Given the description of an element on the screen output the (x, y) to click on. 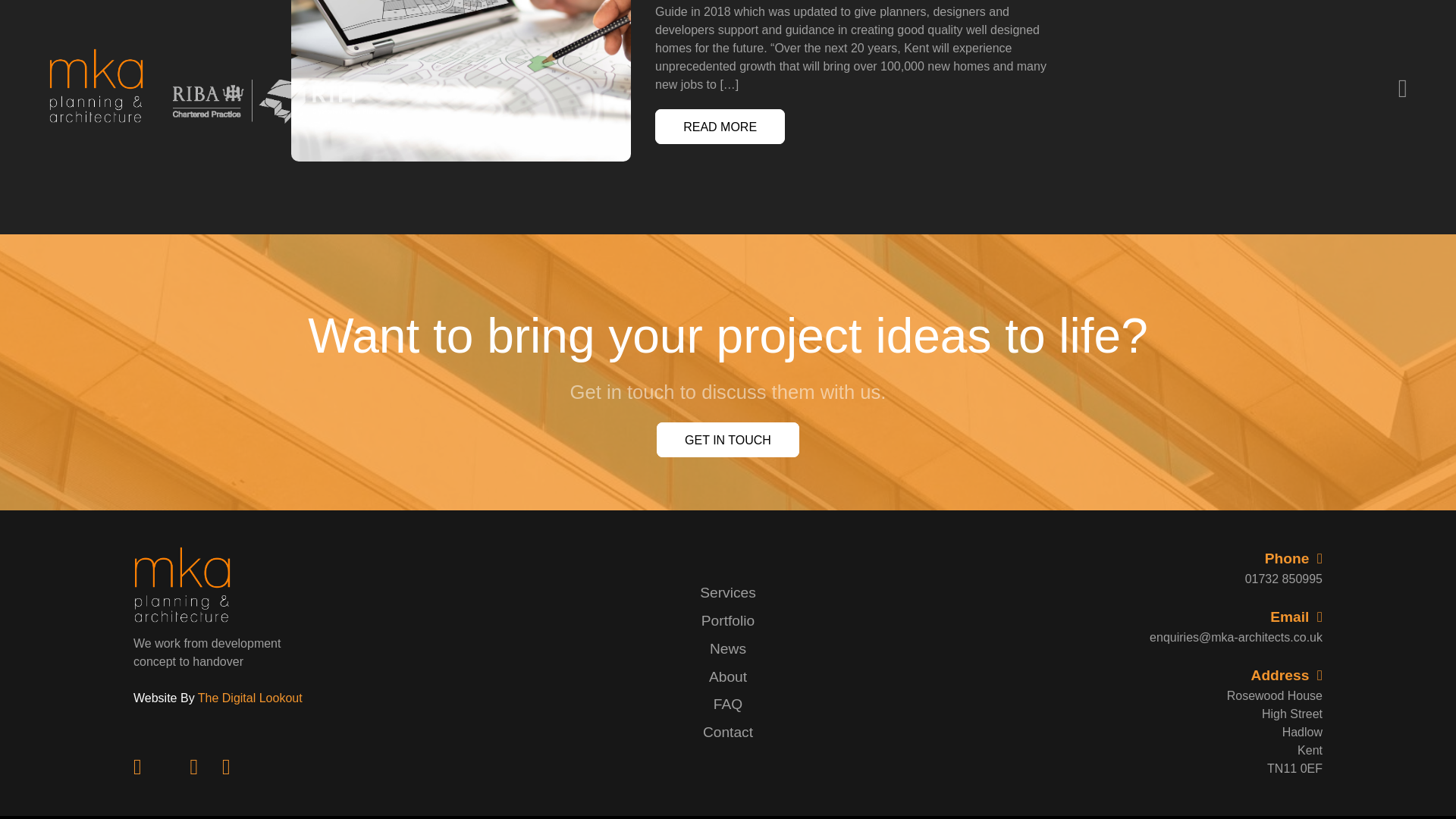
GET IN TOUCH (727, 439)
The Digital Lookout (250, 697)
Portfolio (727, 620)
Services (727, 592)
01732 850995 (1212, 579)
About (727, 676)
News (727, 648)
Contact (727, 731)
FAQ (727, 703)
READ MORE (719, 126)
